Given the description of an element on the screen output the (x, y) to click on. 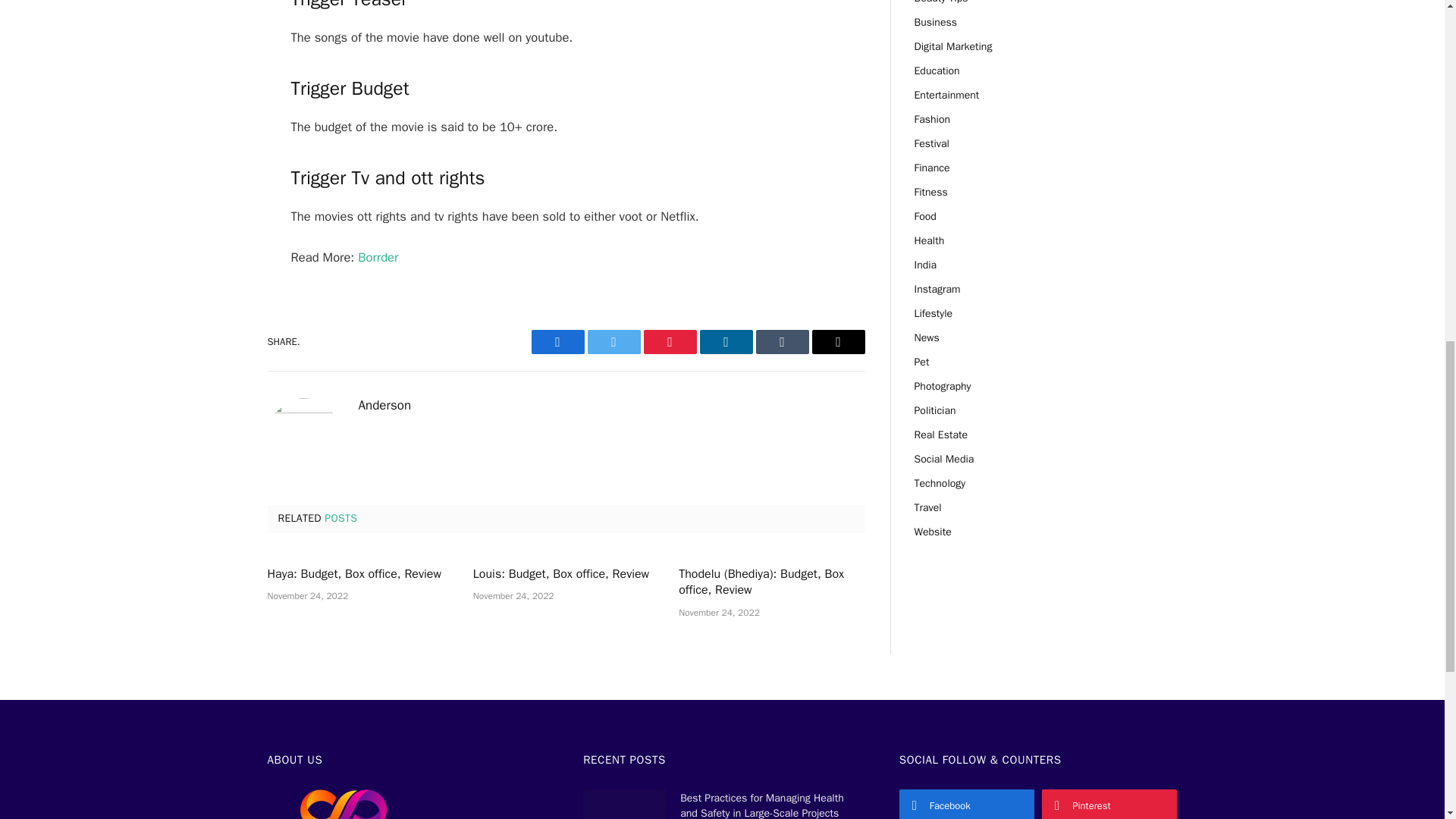
Twitter (613, 341)
LinkedIn (725, 341)
Facebook (557, 341)
Borrder (377, 257)
Pinterest (669, 341)
Tumblr (781, 341)
